Given the description of an element on the screen output the (x, y) to click on. 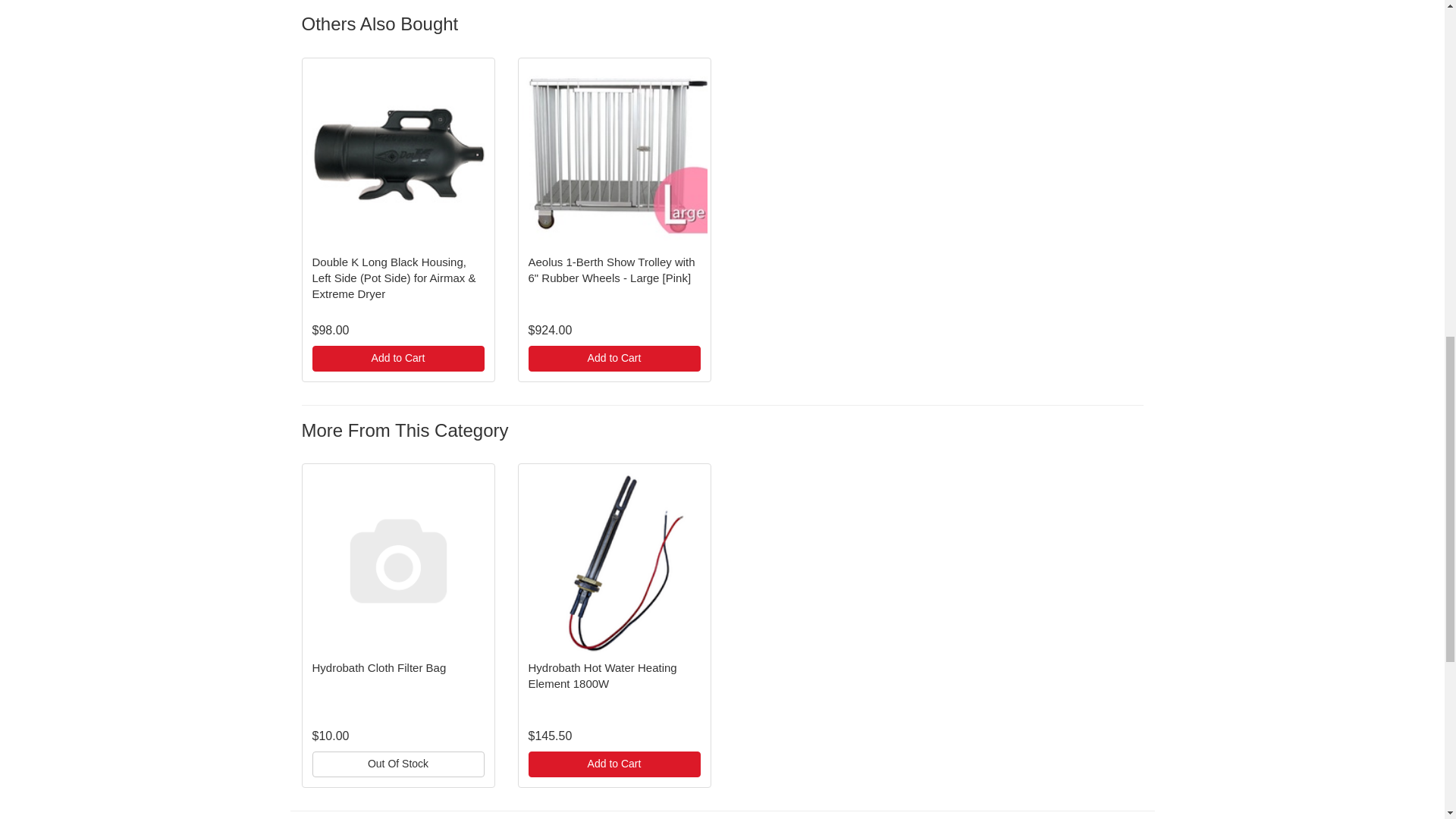
Hydrobath Cloth Filter Bag (379, 667)
Add to Cart (613, 358)
Add to Cart (398, 358)
Hydrobath Hot Water Heating Element 1800W (602, 675)
Notify Me When Back In Stock (398, 764)
Add to Cart (613, 764)
